Given the description of an element on the screen output the (x, y) to click on. 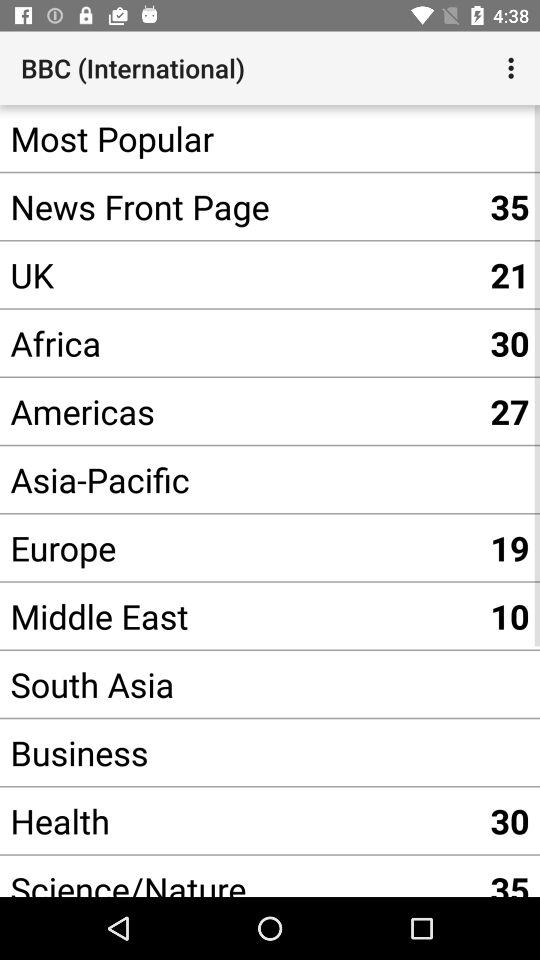
turn on the south asia app (240, 684)
